Given the description of an element on the screen output the (x, y) to click on. 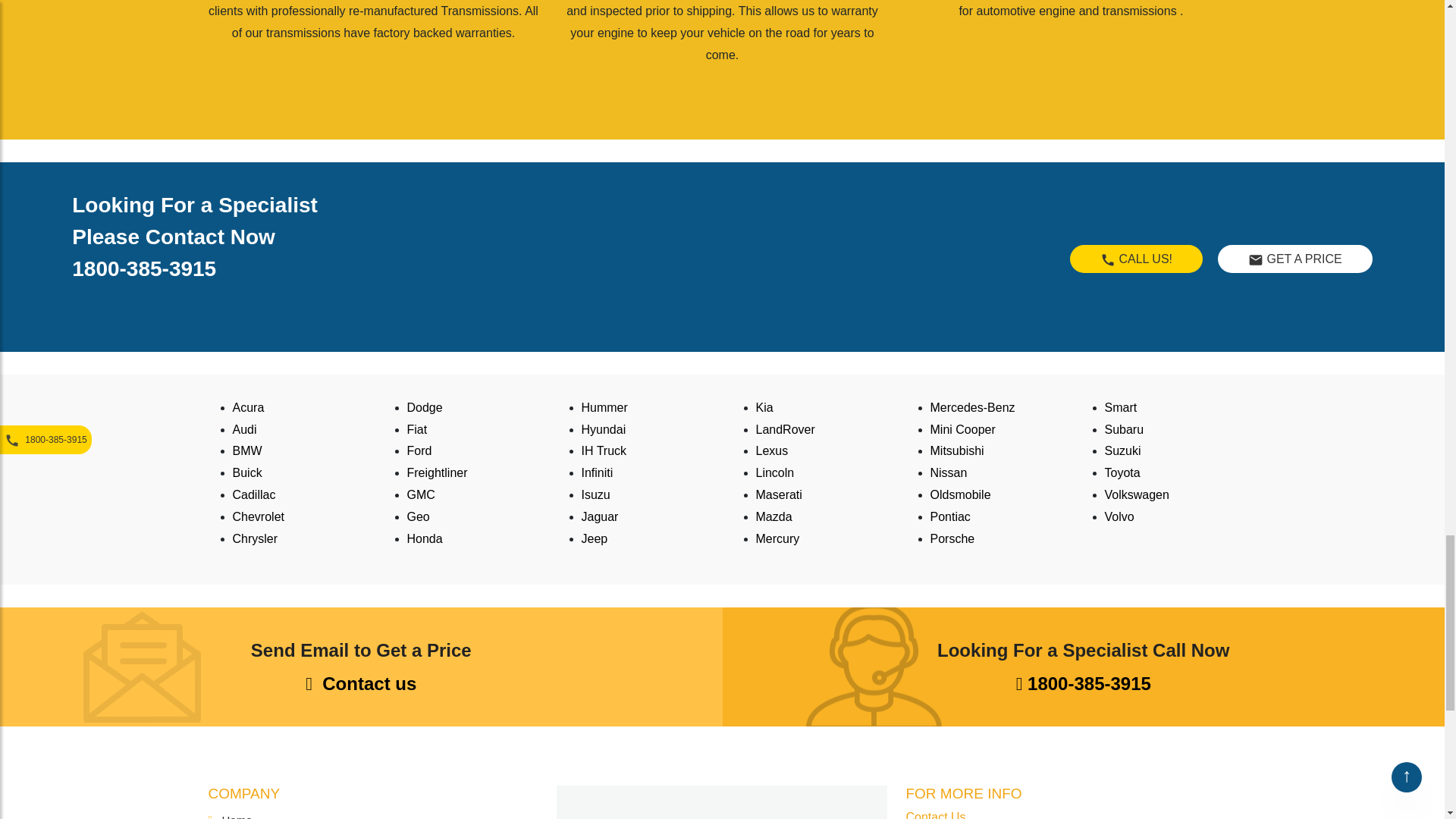
Audi (243, 429)
Buick (246, 472)
GET A PRICE (1288, 258)
Chrysler (254, 538)
Acura (247, 407)
BMW (246, 450)
CALL US! (1130, 258)
Cadillac (253, 494)
Chevrolet (257, 516)
Dodge (424, 407)
